Given the description of an element on the screen output the (x, y) to click on. 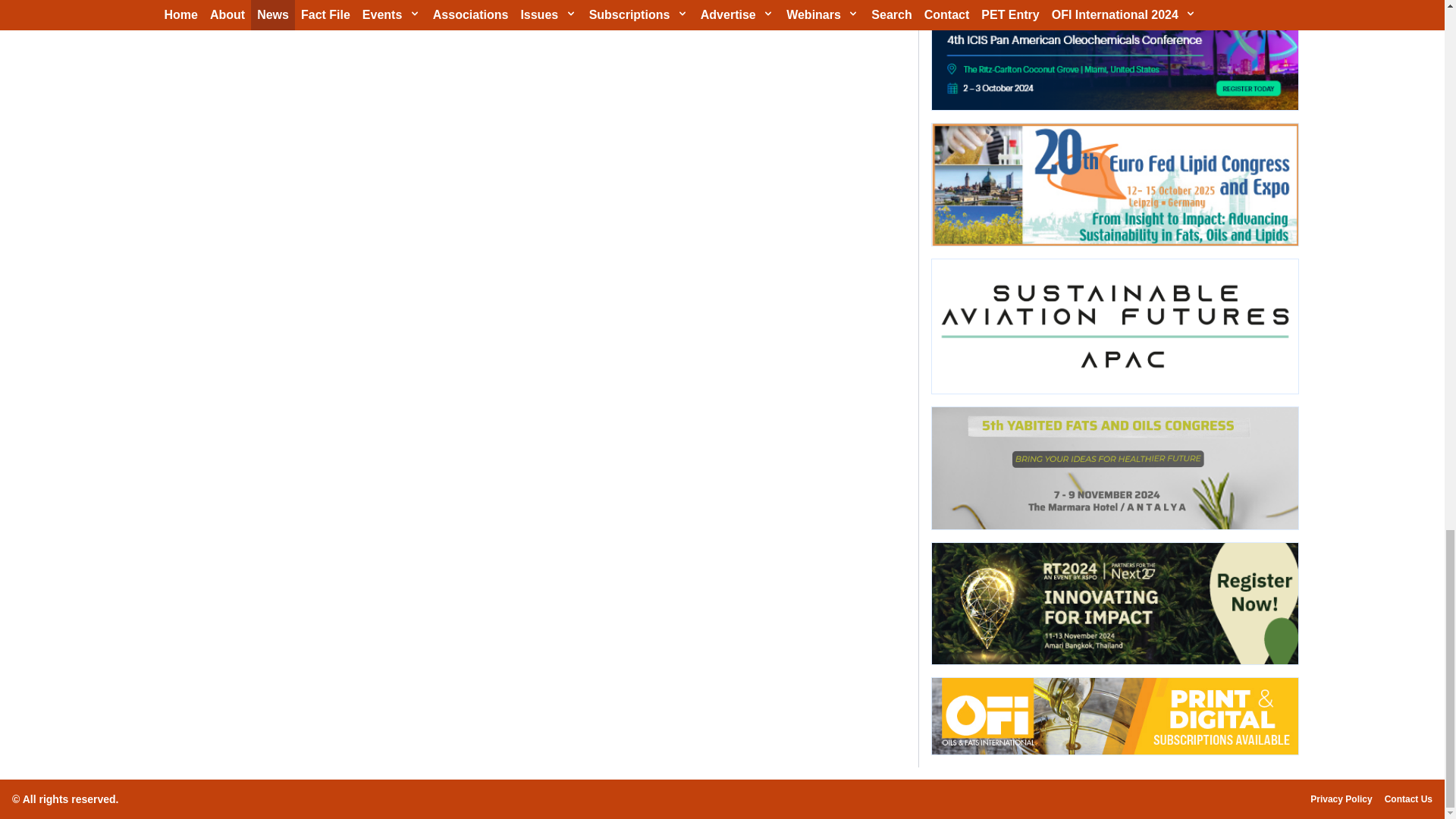
Euro Fed Lipid 2025 (1114, 184)
OFI Subs (1114, 716)
ICIS Pan American Oleochemicals Conference (1114, 54)
Yabited (1114, 468)
Sustainable Aviation Futures APAC Congress (1114, 326)
RT2024 (1114, 603)
